Given the description of an element on the screen output the (x, y) to click on. 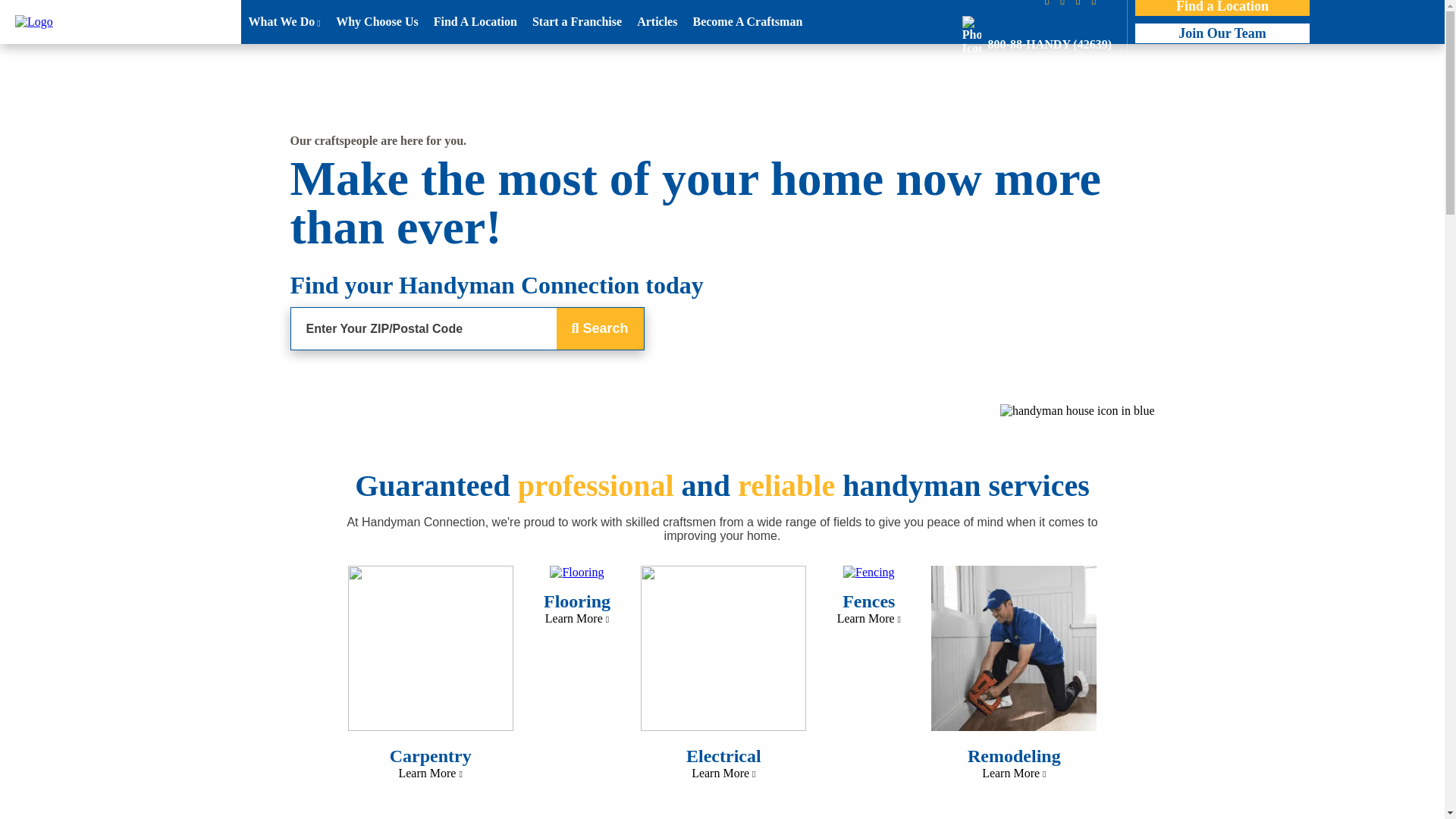
Twitter (1107, 3)
Tiktok (1096, 3)
Find A Location (475, 21)
Start a Franchise (576, 21)
Phone (1032, 31)
Instagram (1066, 3)
Become A Craftsman (746, 21)
facebook (1051, 3)
twitter (1107, 3)
instagram (1066, 3)
pinterest (1082, 3)
Facebook (1051, 3)
Articles (656, 21)
Pinterest (1082, 3)
tiktok (1096, 3)
